Given the description of an element on the screen output the (x, y) to click on. 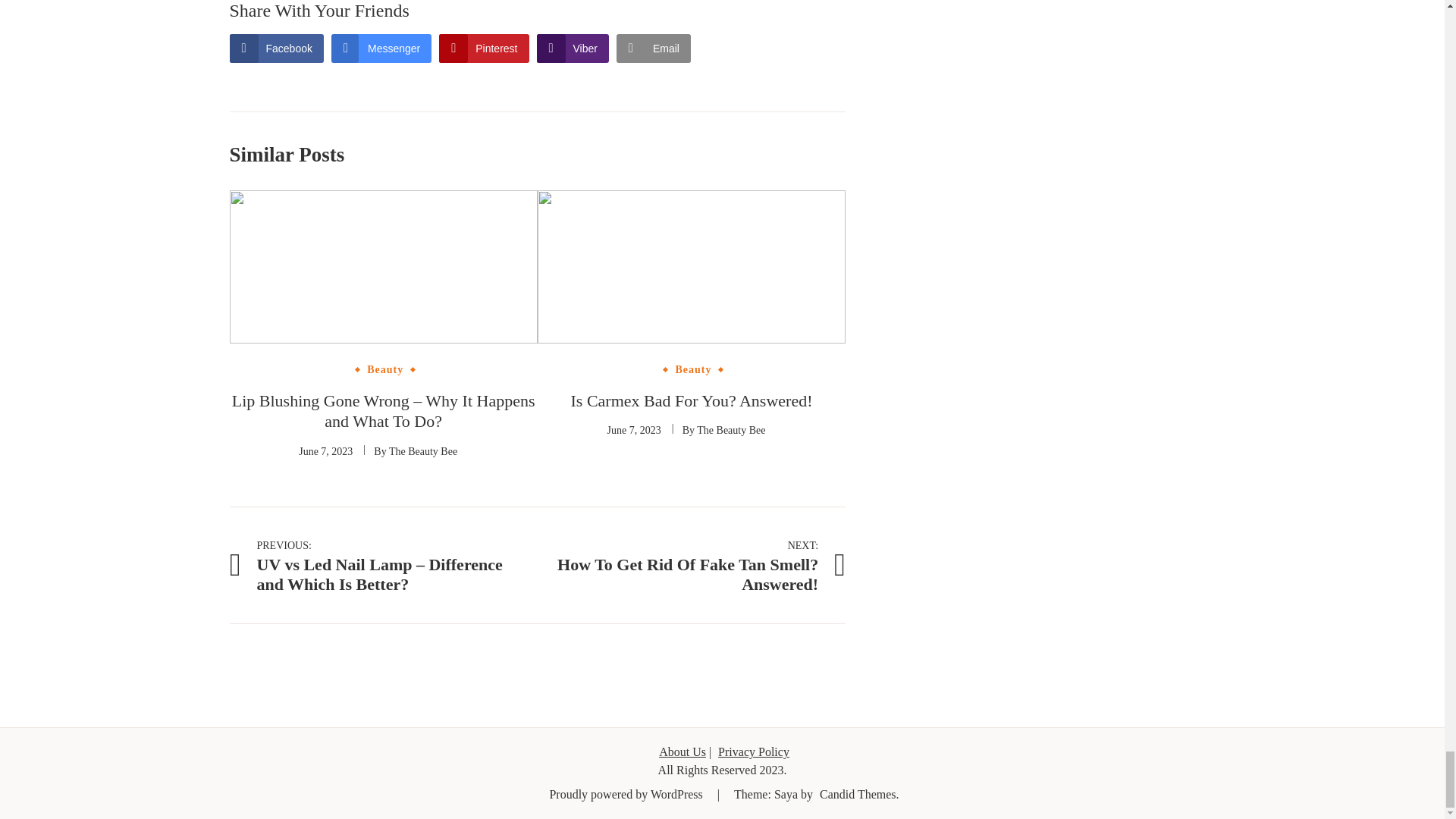
Is Carmex Bad For You? Answered! (691, 400)
The Beauty Bee (731, 430)
Beauty (691, 564)
Facebook (692, 369)
Pinterest (275, 48)
June 7, 2023 (483, 48)
Messenger (325, 451)
Beauty (380, 48)
The Beauty Bee (384, 369)
Viber (422, 451)
June 7, 2023 (572, 48)
Email (634, 430)
